Given the description of an element on the screen output the (x, y) to click on. 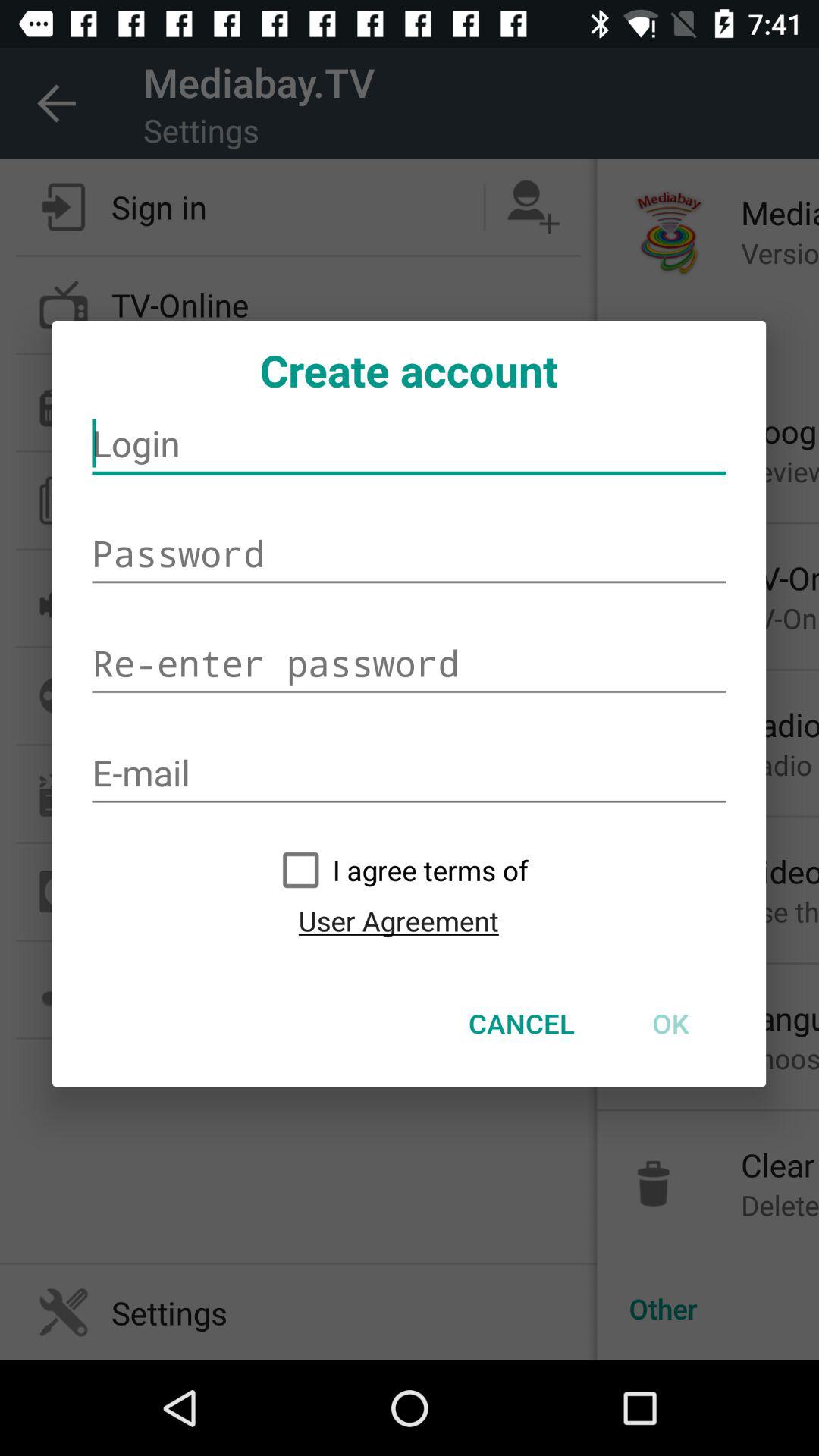
turn off the item at the bottom right corner (670, 1022)
